Given the description of an element on the screen output the (x, y) to click on. 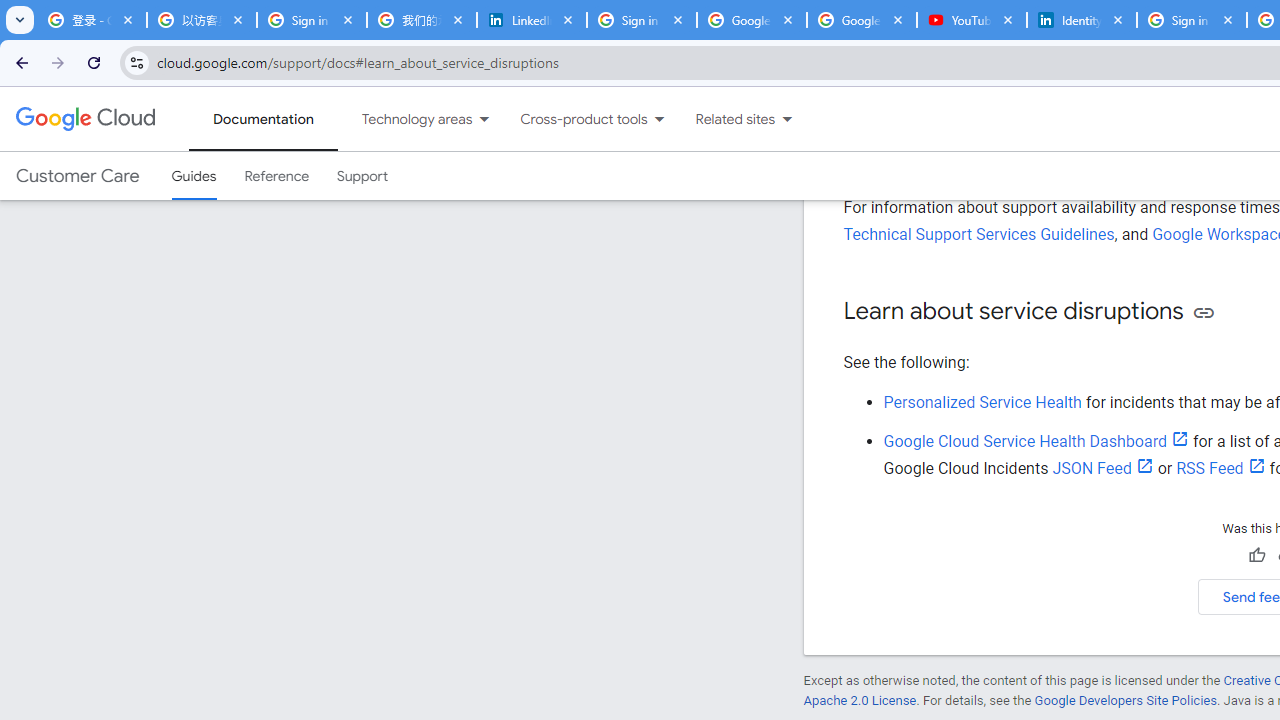
Apache 2.0 License (859, 699)
Reference (276, 175)
Sign in - Google Accounts (1191, 20)
Documentation, selected (263, 119)
Dropdown menu for Cross-product tools (659, 119)
Dropdown menu for Technology areas (484, 119)
Cross-product tools (571, 119)
Google Developers Site Policies (1125, 699)
Customer Care (77, 175)
Guides, selected (193, 175)
